Given the description of an element on the screen output the (x, y) to click on. 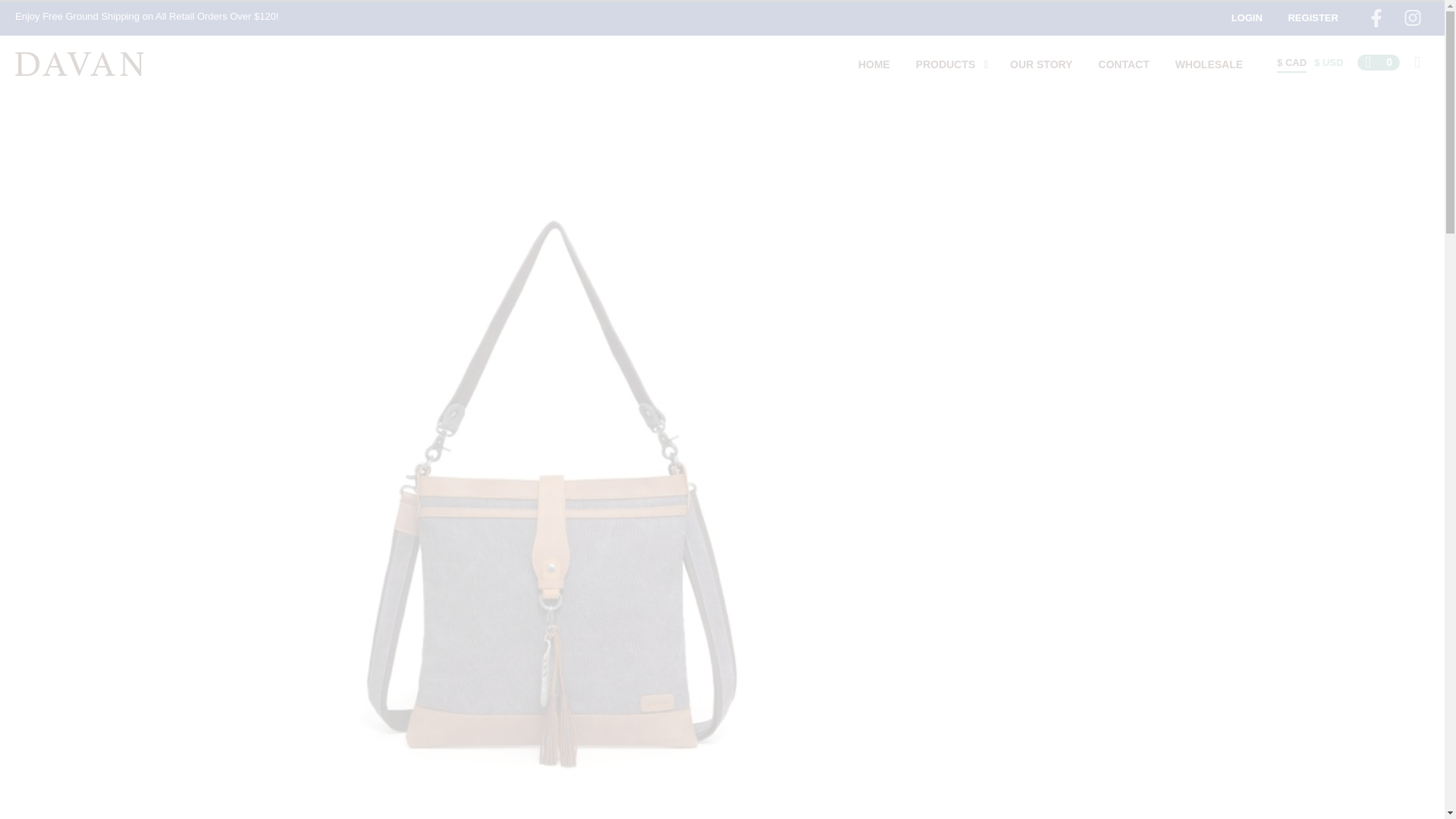
PRODUCTS (945, 64)
LOGIN (1247, 17)
REGISTER (1312, 17)
HOME (874, 64)
